Given the description of an element on the screen output the (x, y) to click on. 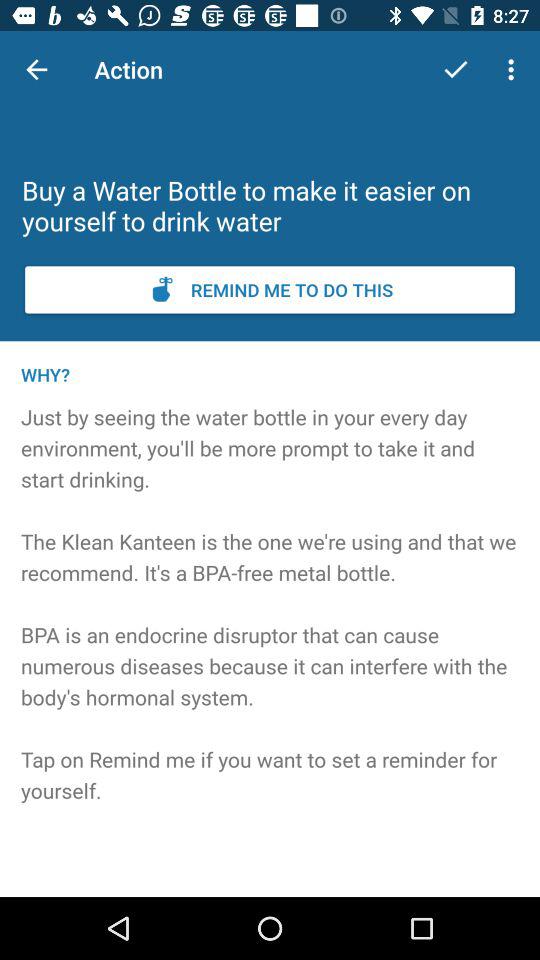
tap just by seeing item (270, 631)
